Given the description of an element on the screen output the (x, y) to click on. 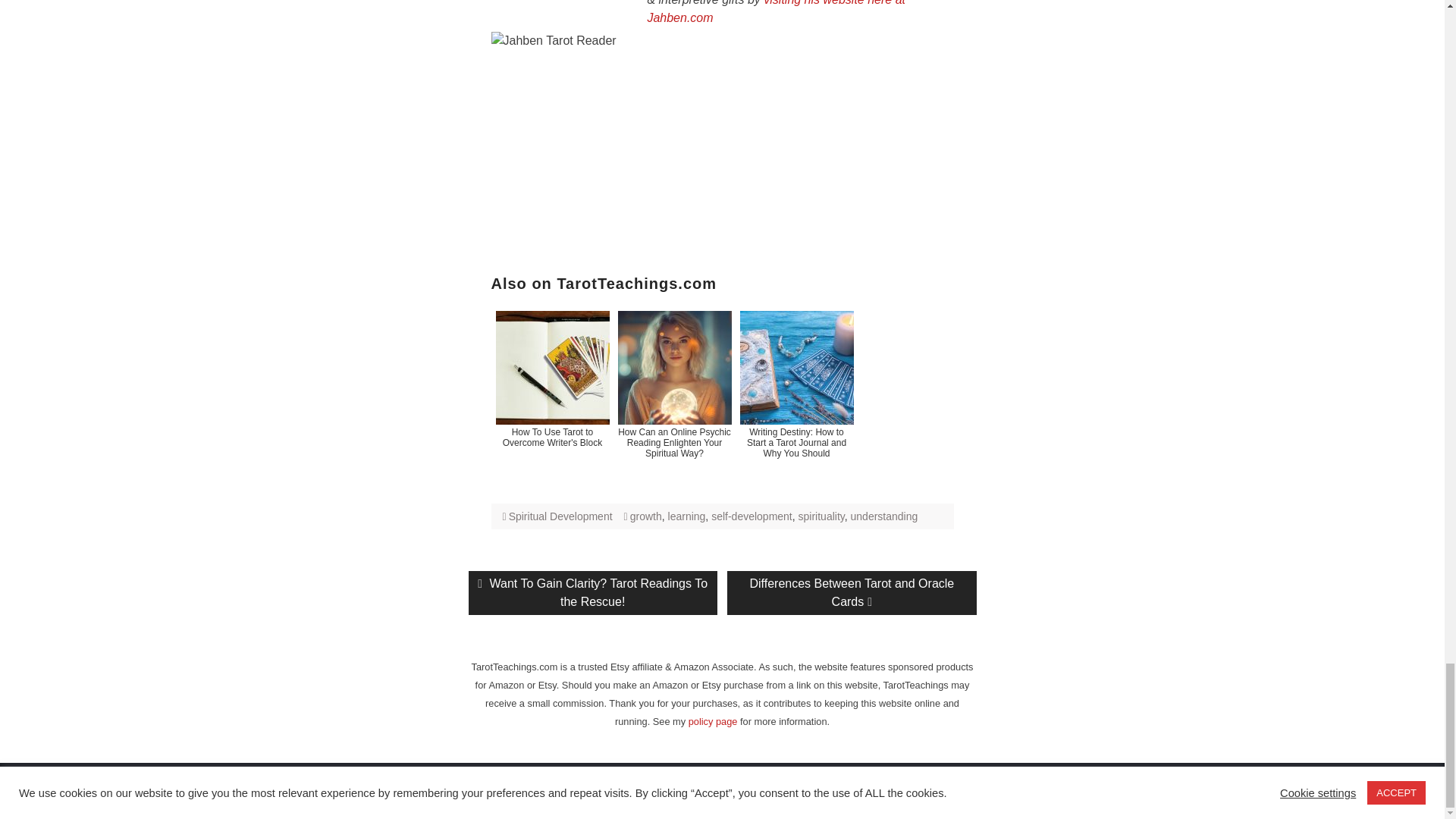
Spiritual Development (560, 516)
learning (687, 516)
visiting his website here at Jahben.com (775, 12)
growth (646, 516)
